Given the description of an element on the screen output the (x, y) to click on. 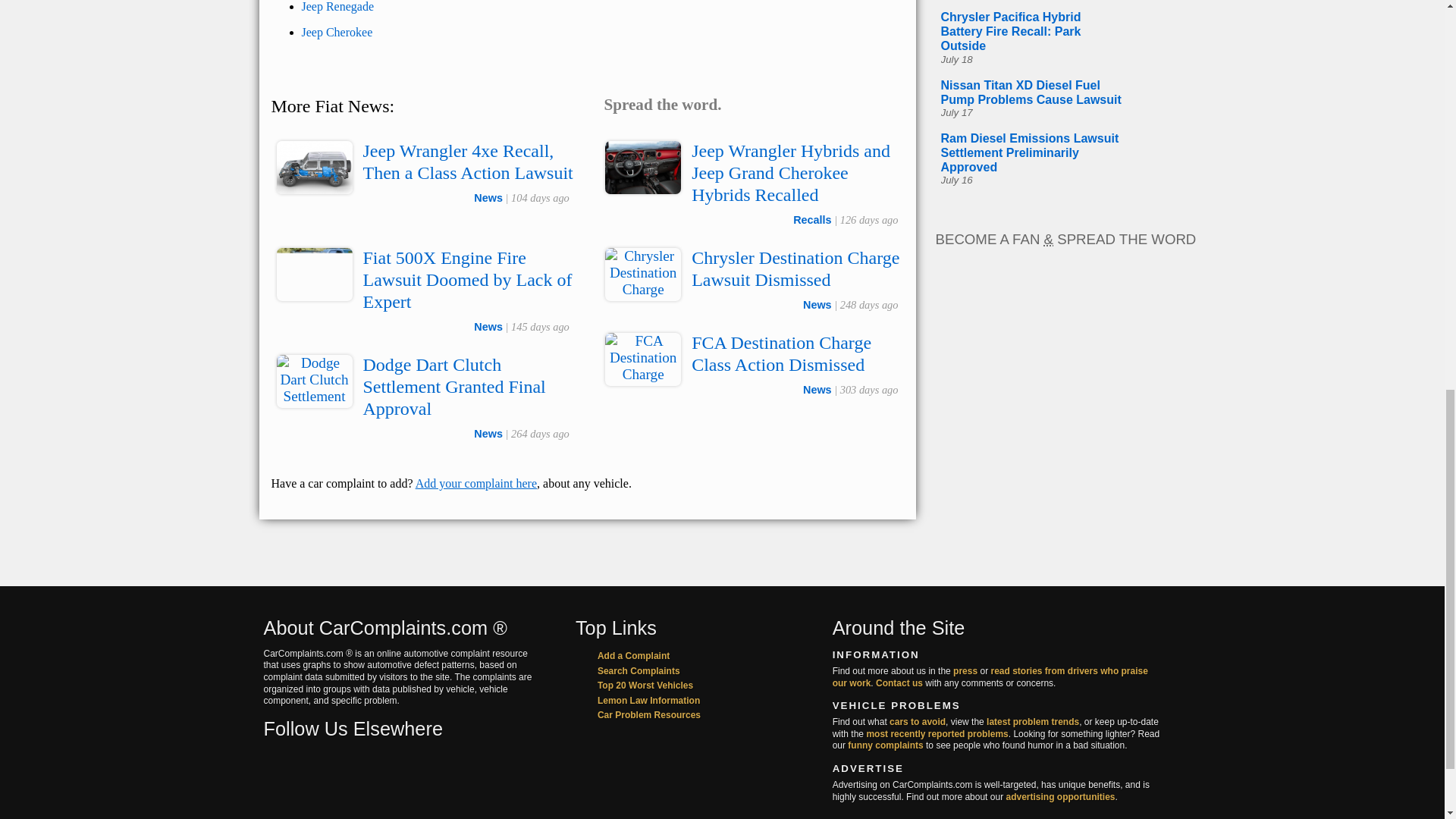
Jeep Wrangler 4xe Recall, Then a Class Action Lawsuit (467, 161)
Jeep Renegade (337, 6)
Recalls (812, 219)
News (488, 197)
Jeep Cherokee (336, 31)
Email this page (807, 103)
Share on Facebook (743, 103)
Chrysler Destination Charge Lawsuit Dismissed (795, 268)
Fiat 500X Engine Fire Lawsuit Doomed by Lack of Expert (467, 280)
News (488, 326)
Share on Twitter (775, 103)
